Given the description of an element on the screen output the (x, y) to click on. 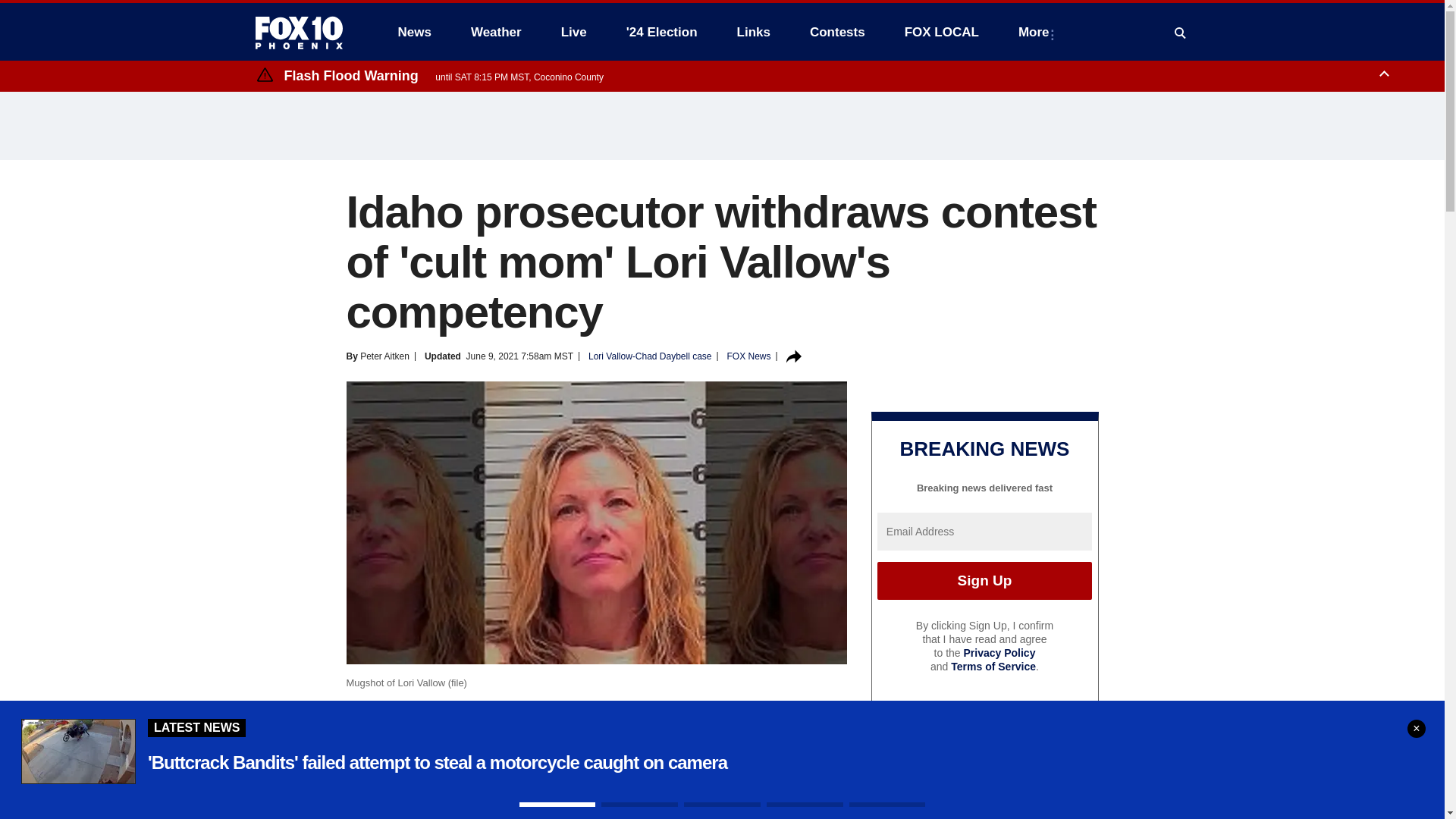
More (1036, 32)
News (413, 32)
Contests (837, 32)
FOX LOCAL (941, 32)
'24 Election (662, 32)
Sign Up (984, 580)
Live (573, 32)
Links (754, 32)
Weather (496, 32)
